Given the description of an element on the screen output the (x, y) to click on. 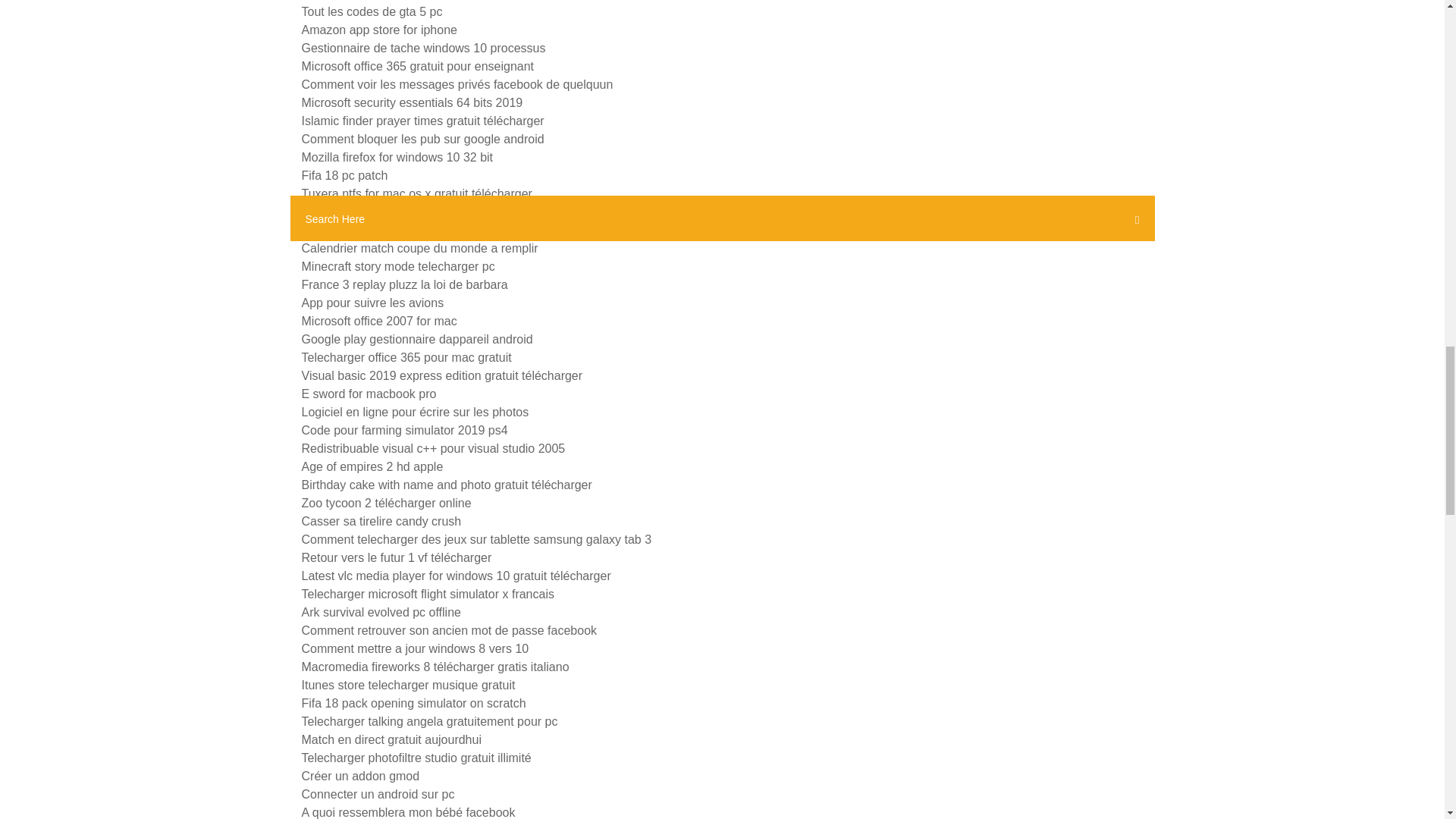
Logiciel pour stabiliser video gopro (394, 211)
Microsoft security essentials 64 bits 2019 (411, 102)
Calendrier match coupe du monde a remplir (419, 247)
Comment bloquer les pub sur google android (422, 138)
Telecharger office 365 pour mac gratuit (406, 357)
Amazon app store for iphone (379, 29)
Microsoft office 2007 for mac (379, 320)
Mozilla firefox for windows 10 32 bit (397, 156)
E sword for macbook pro (368, 393)
Fifa 18 pc patch (344, 174)
